Given the description of an element on the screen output the (x, y) to click on. 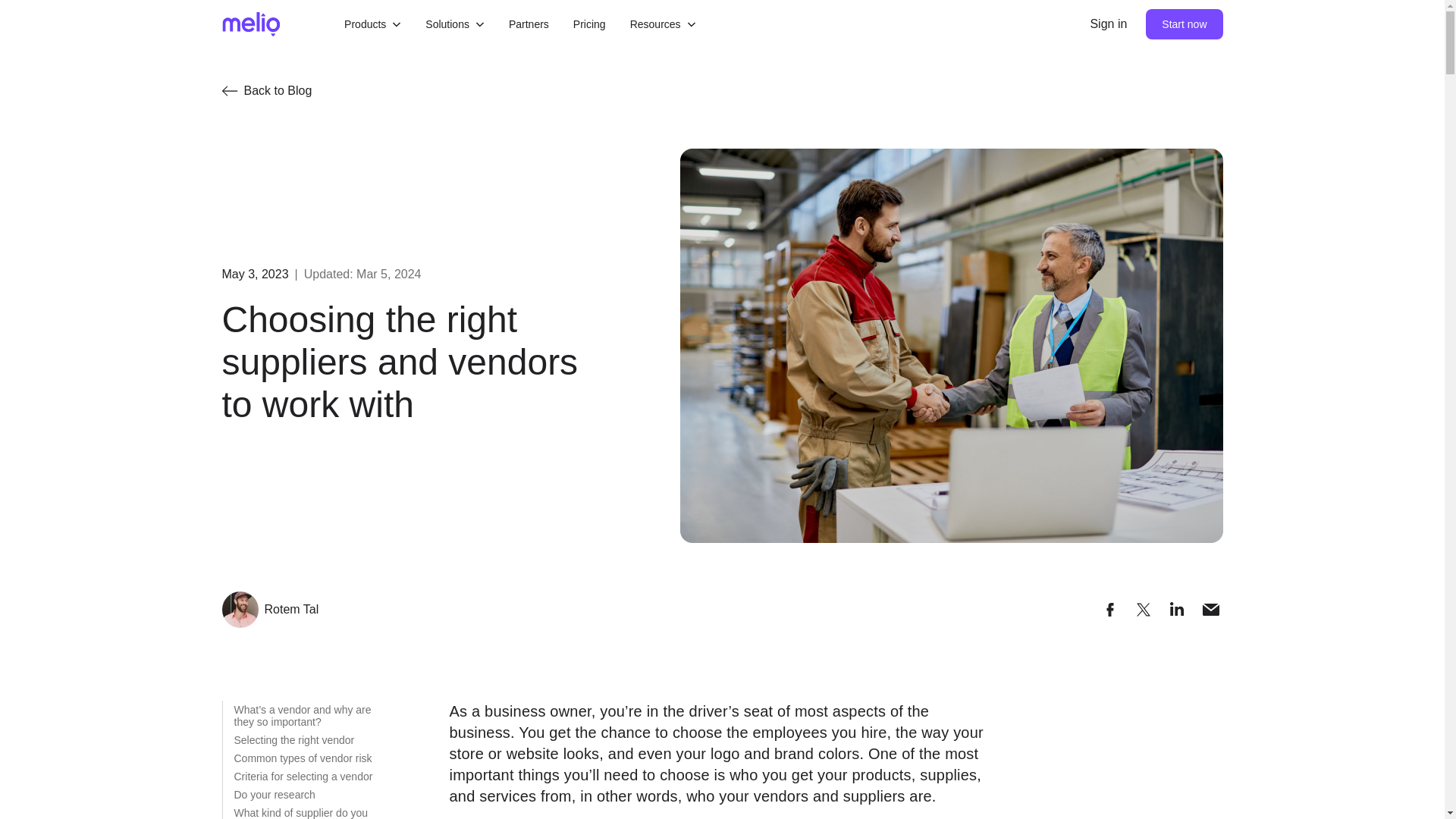
Share via Email (1210, 609)
Share on X (1143, 609)
Solutions (445, 24)
Meliopayments homepage (251, 24)
Share on Facebook (1109, 609)
Share on Linkedin (510, 24)
